Given the description of an element on the screen output the (x, y) to click on. 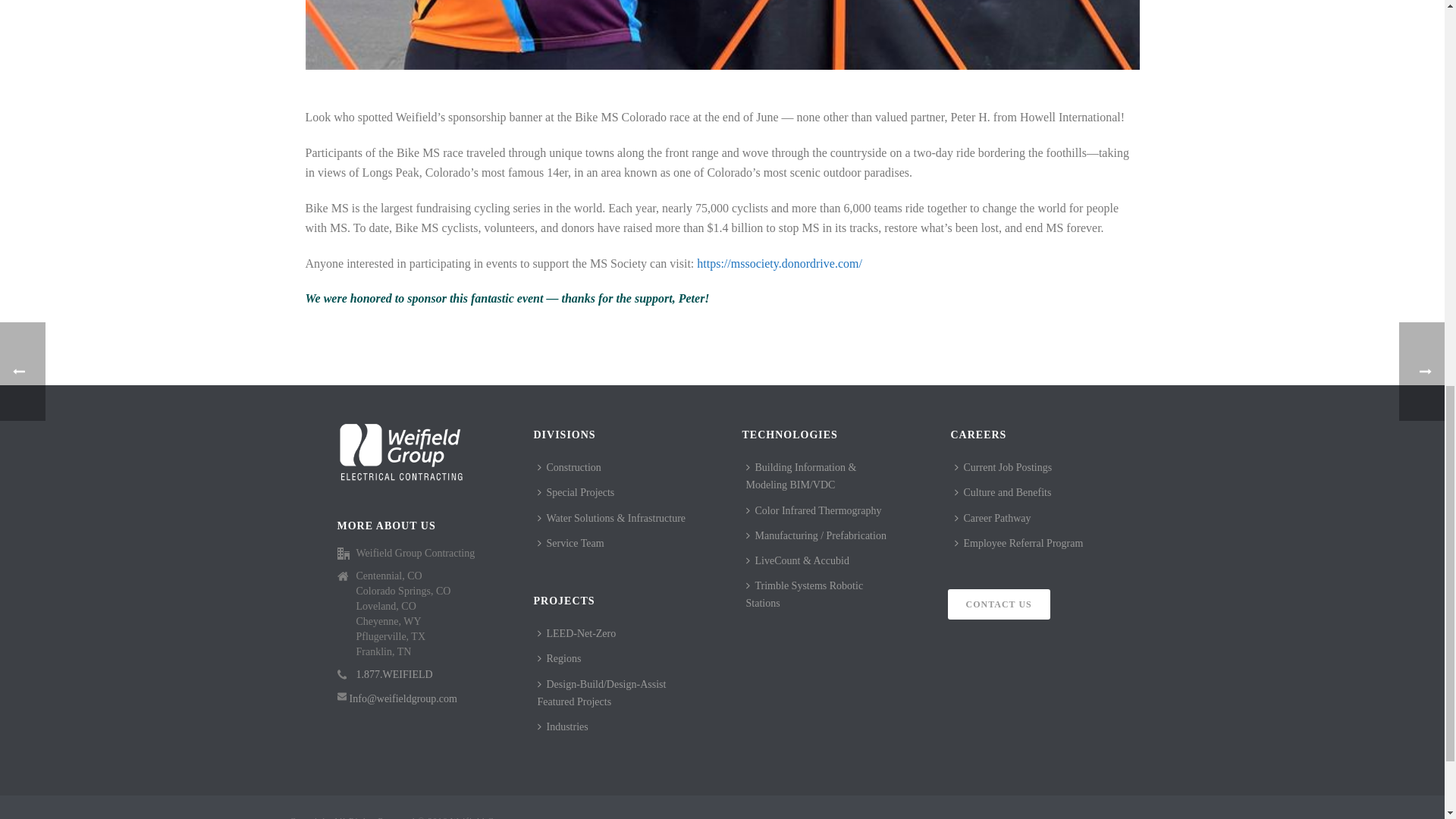
PROUD TO SUPPORT BIKE MS! (721, 34)
CONTACT US (998, 603)
